Given the description of an element on the screen output the (x, y) to click on. 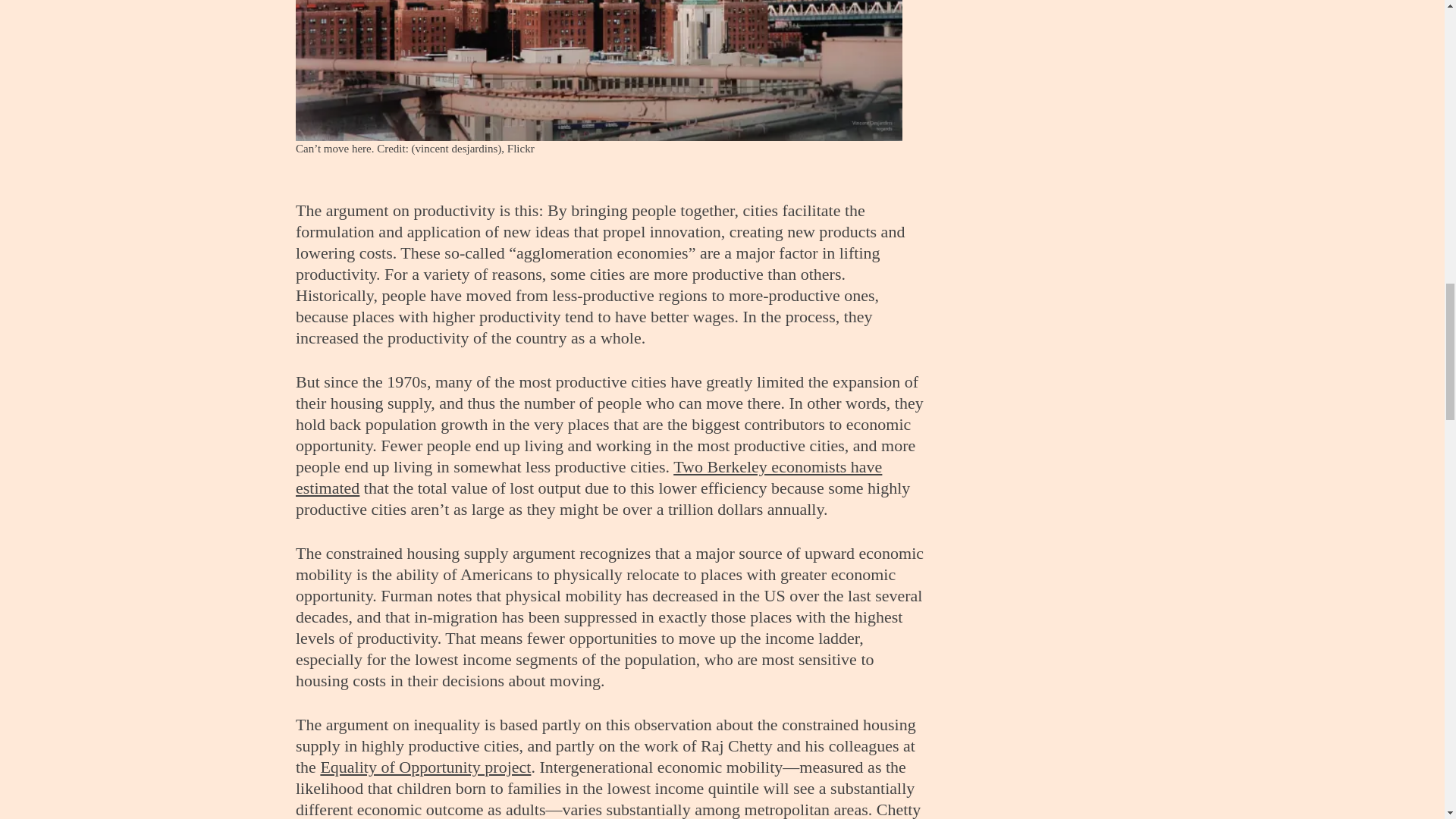
Equality of Opportunity project (425, 765)
Two Berkeley economists have estimated (588, 476)
